Given the description of an element on the screen output the (x, y) to click on. 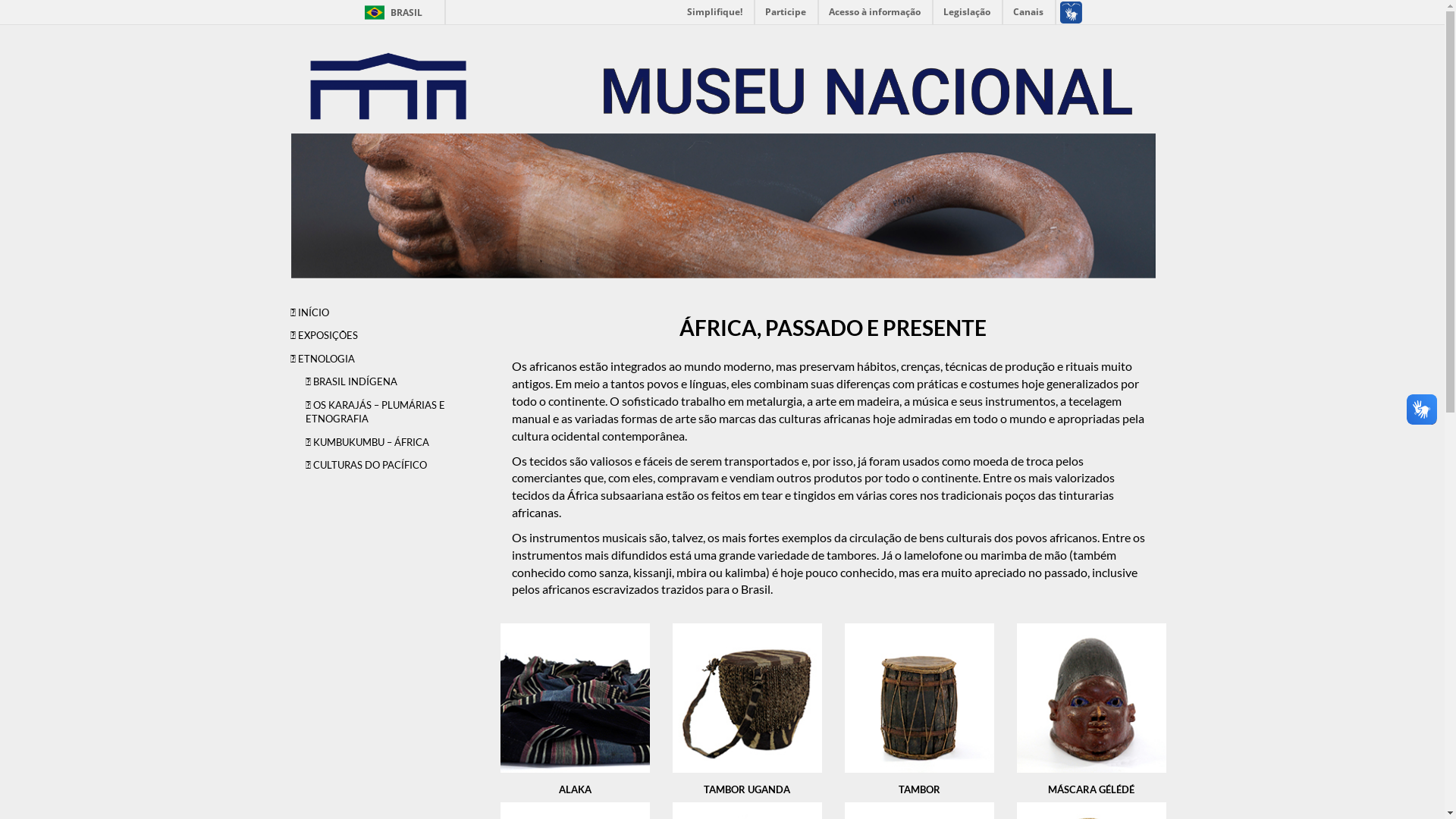
TAMBOR UGANDA Element type: text (747, 708)
TAMBOR Element type: text (919, 708)
BRASIL Element type: text (373, 12)
ALAKA Element type: text (574, 708)
